Given the description of an element on the screen output the (x, y) to click on. 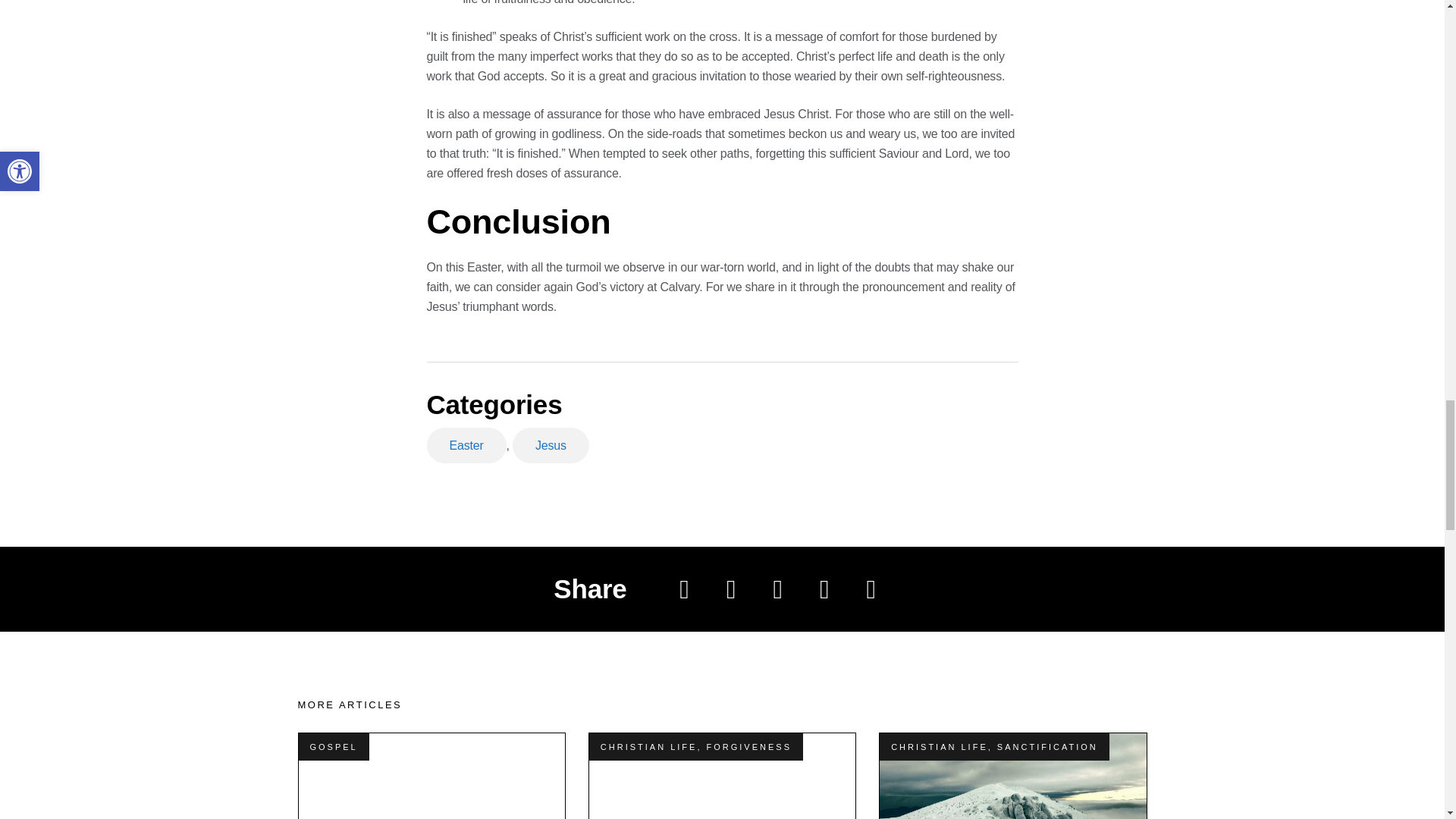
Jesus (550, 445)
CHRISTIAN LIFE (939, 746)
FORGIVENESS (749, 746)
MORE ARTICLES (349, 704)
GOSPEL (332, 746)
CHRISTIAN LIFE (648, 746)
SANCTIFICATION (1047, 746)
Easter (465, 445)
